Given the description of an element on the screen output the (x, y) to click on. 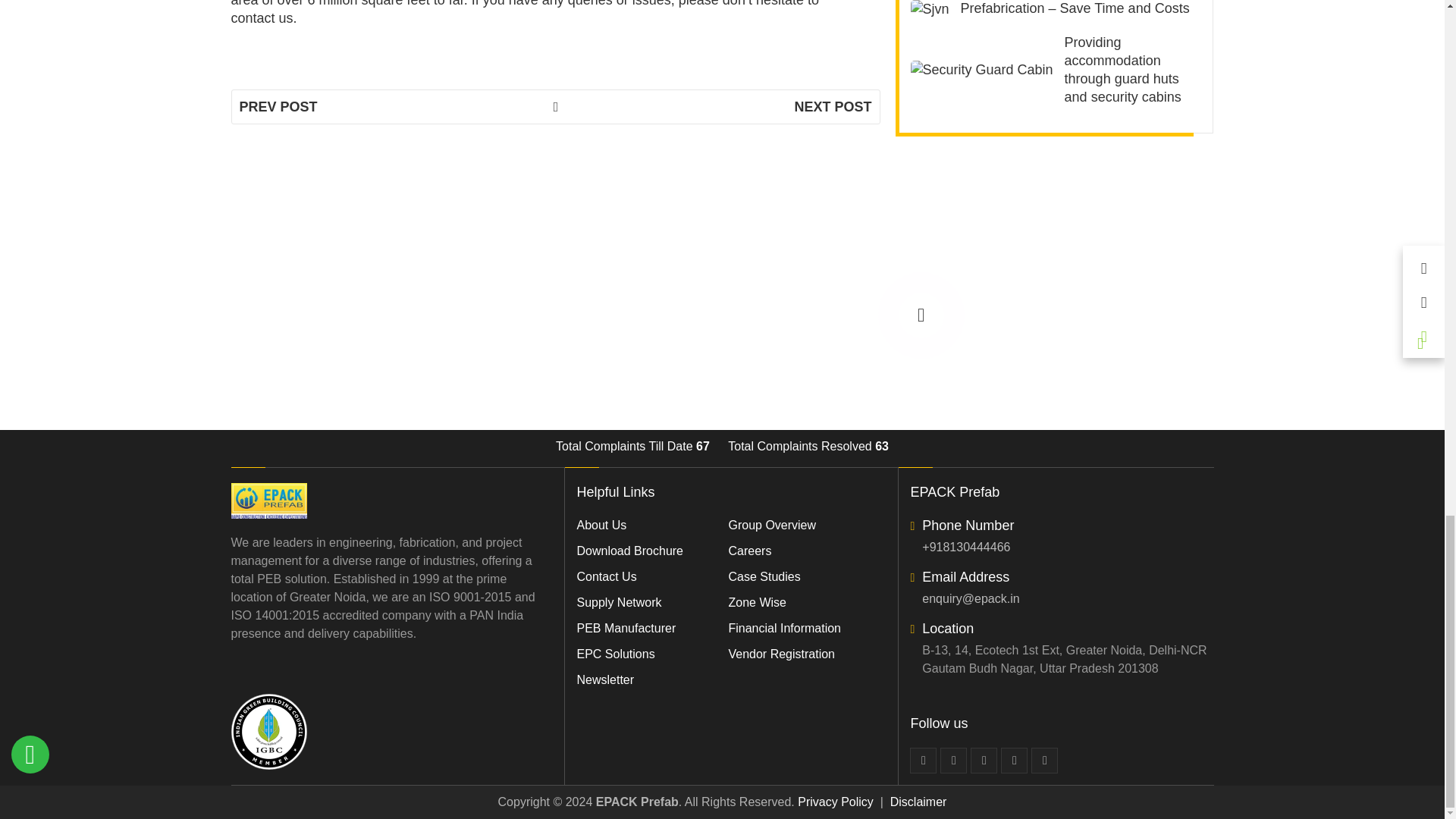
Instagram (1044, 760)
Linkedin (984, 760)
Twitter (953, 760)
Facebook (923, 760)
Youtube (1014, 760)
